Given the description of an element on the screen output the (x, y) to click on. 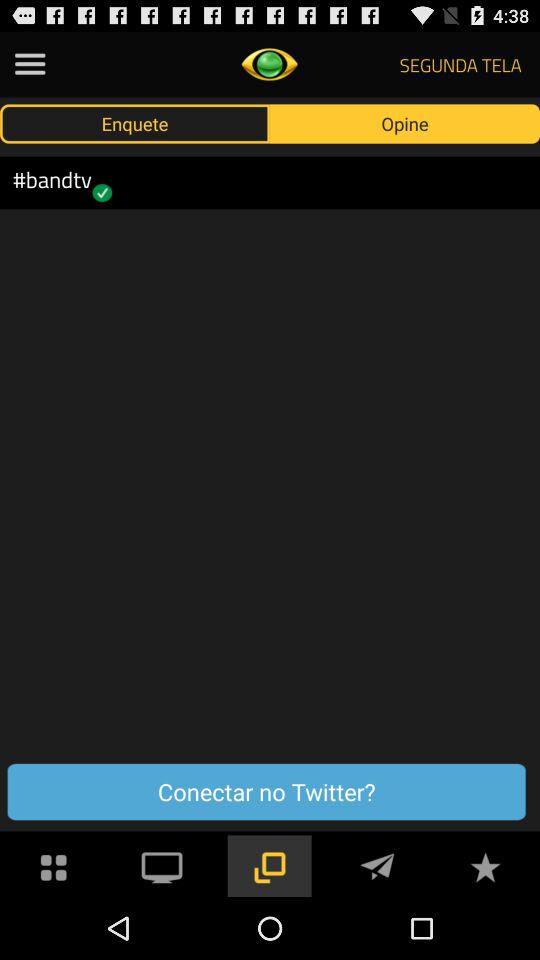
send message (377, 865)
